Given the description of an element on the screen output the (x, y) to click on. 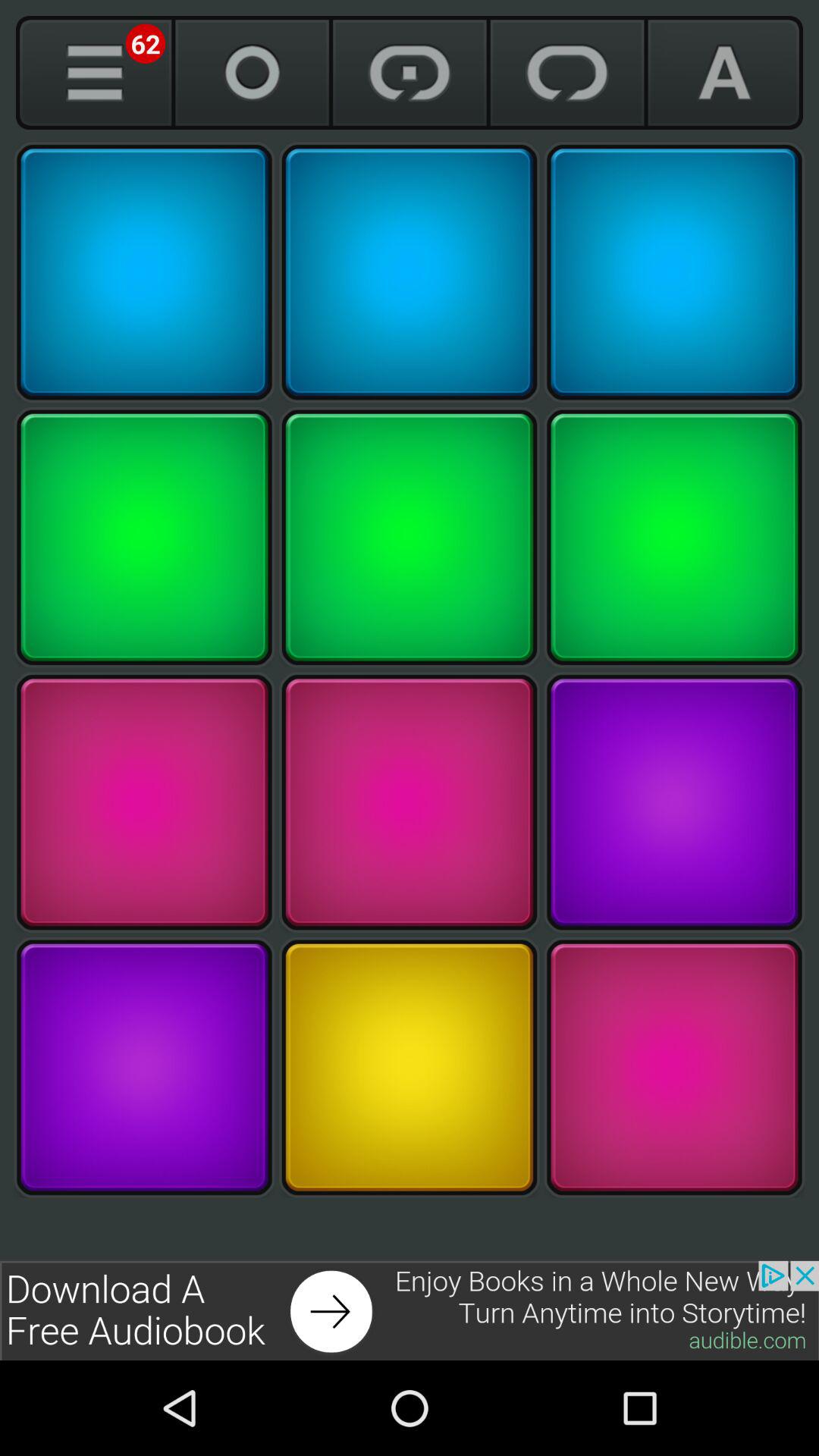
select button (144, 1067)
